Given the description of an element on the screen output the (x, y) to click on. 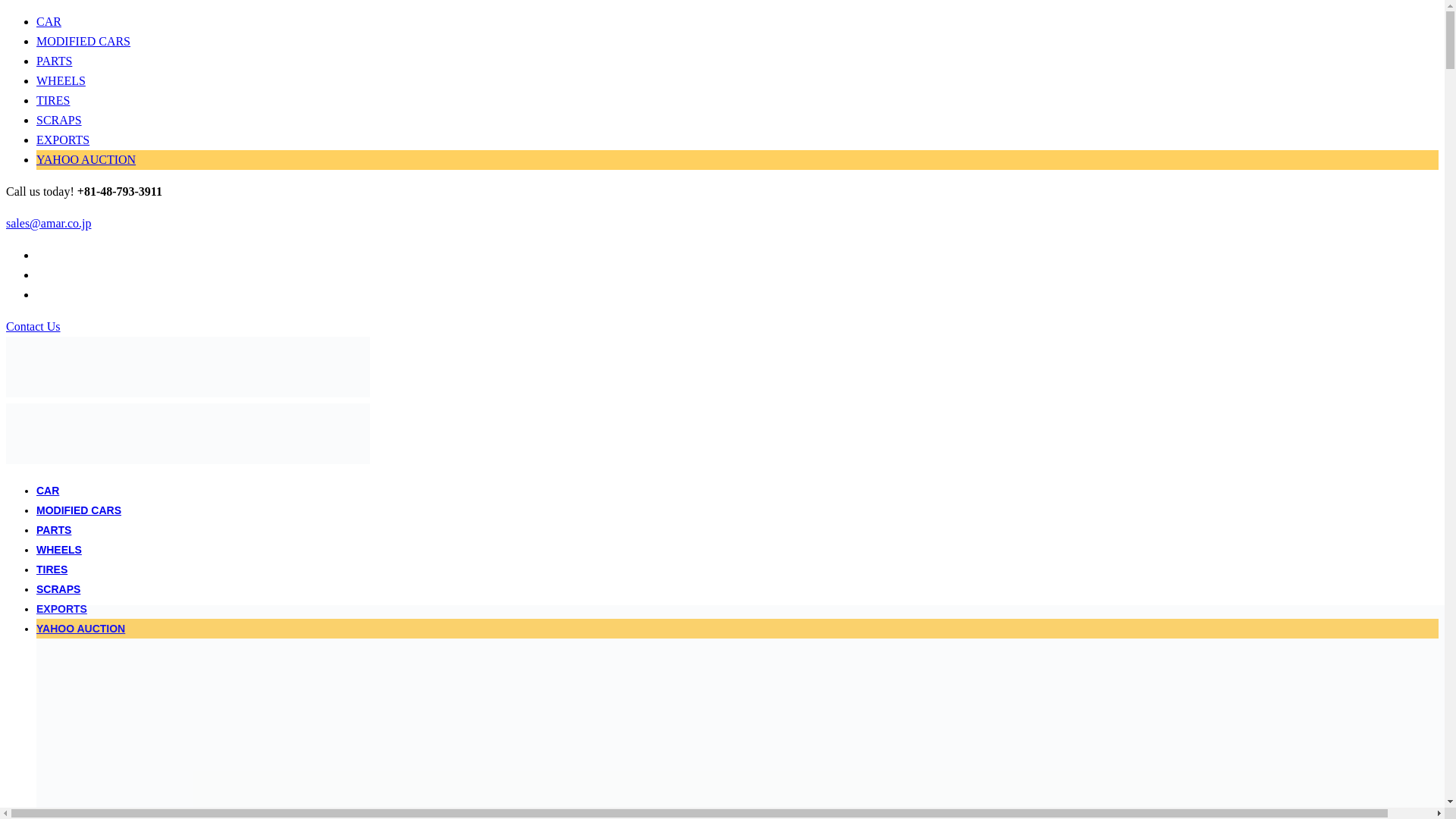
YAHOO AUCTION (85, 159)
EXPORTS (62, 139)
MODIFIED CARS (83, 41)
TIRES (51, 569)
TIRES (52, 100)
EXPORTS (61, 608)
SCRAPS (58, 589)
CAR (47, 490)
Contact Us (33, 326)
WHEELS (58, 549)
